Given the description of an element on the screen output the (x, y) to click on. 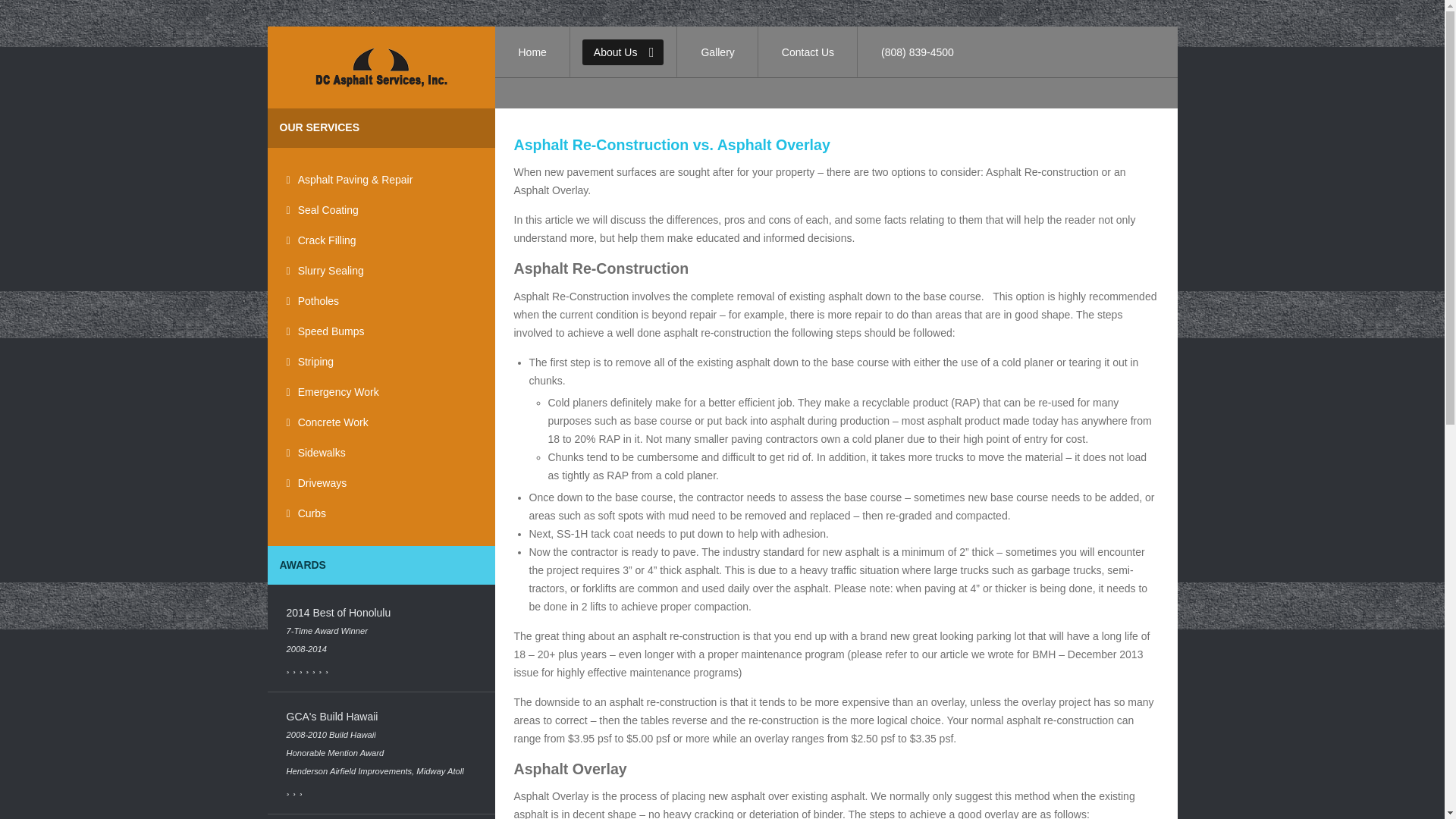
Contact Us (807, 51)
Home (532, 51)
Asphalt Re-Construction vs. Asphalt Overlay (671, 144)
Emergency Work (380, 392)
Slurry Sealing (380, 270)
Sidewalks (380, 452)
Asphalt Re-Construction vs. Asphalt Overlay (671, 144)
About Us (623, 51)
Speed Bumps (380, 331)
Striping (380, 361)
